Given the description of an element on the screen output the (x, y) to click on. 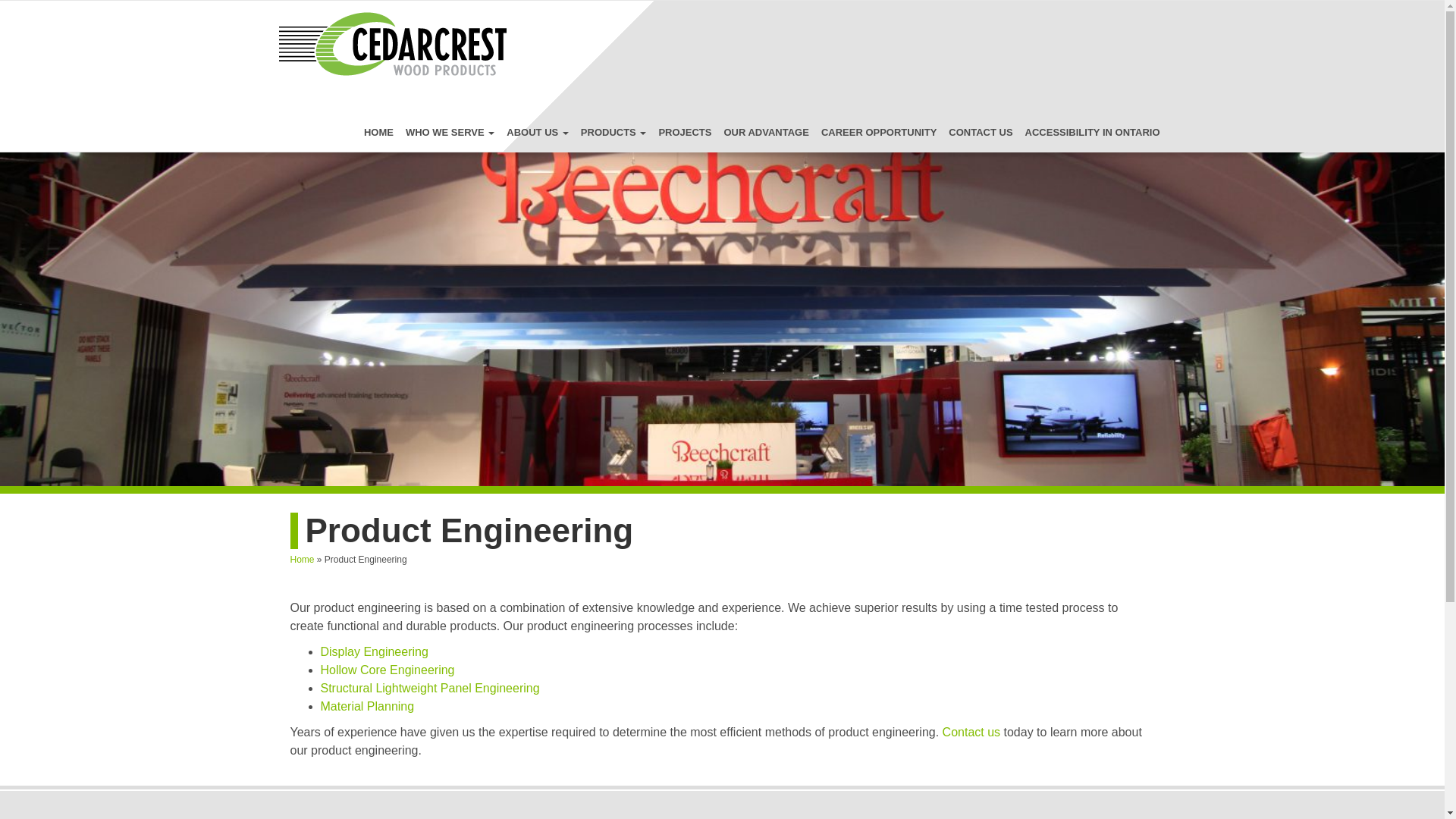
ACCESSIBILITY IN ONTARIO (1092, 132)
PROJECTS (684, 132)
ABOUT US (537, 132)
OUR ADVANTAGE (765, 132)
Contact us (973, 731)
HOME (378, 132)
CAREER OPPORTUNITY (878, 132)
Structural Lightweight Panel Engineering (429, 687)
Home (378, 132)
About Us (537, 132)
